Given the description of an element on the screen output the (x, y) to click on. 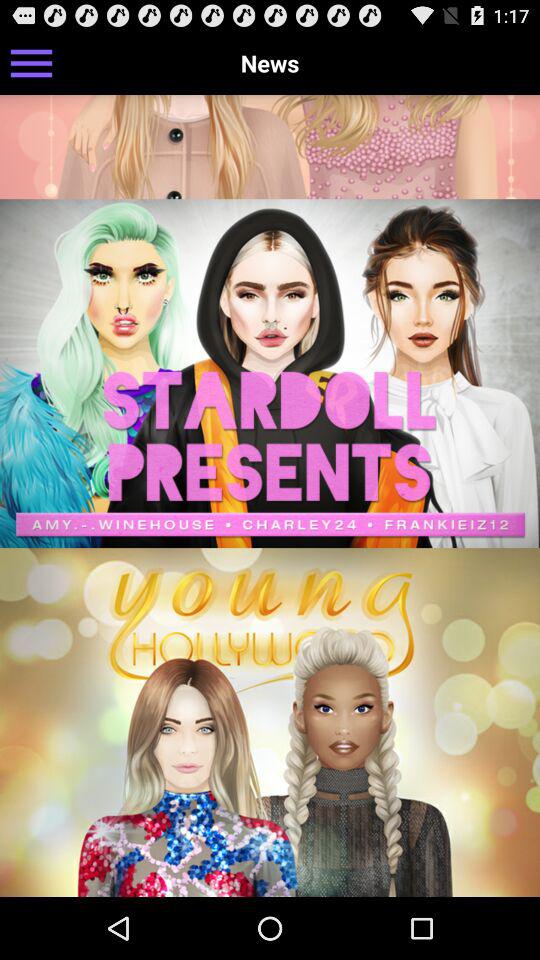
view menu (31, 62)
